Given the description of an element on the screen output the (x, y) to click on. 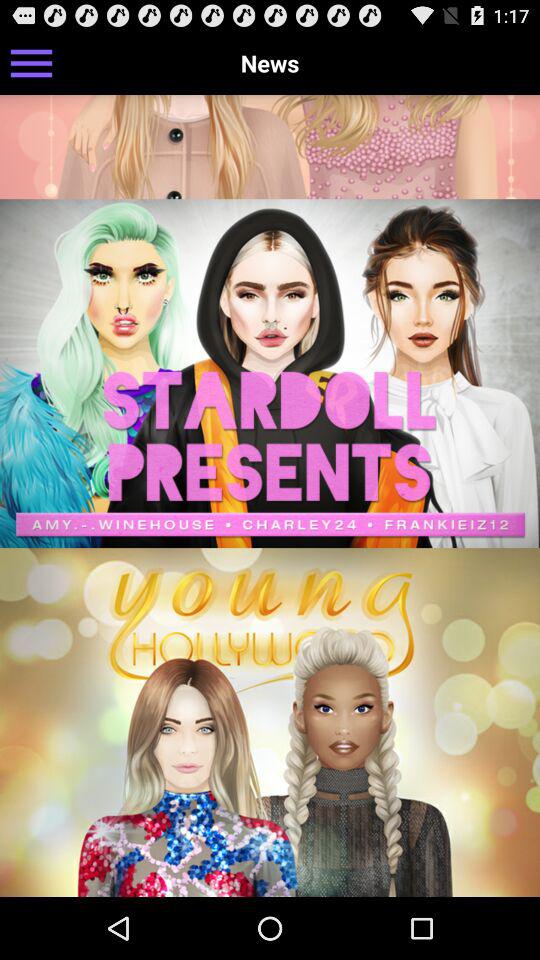
view menu (31, 62)
